Given the description of an element on the screen output the (x, y) to click on. 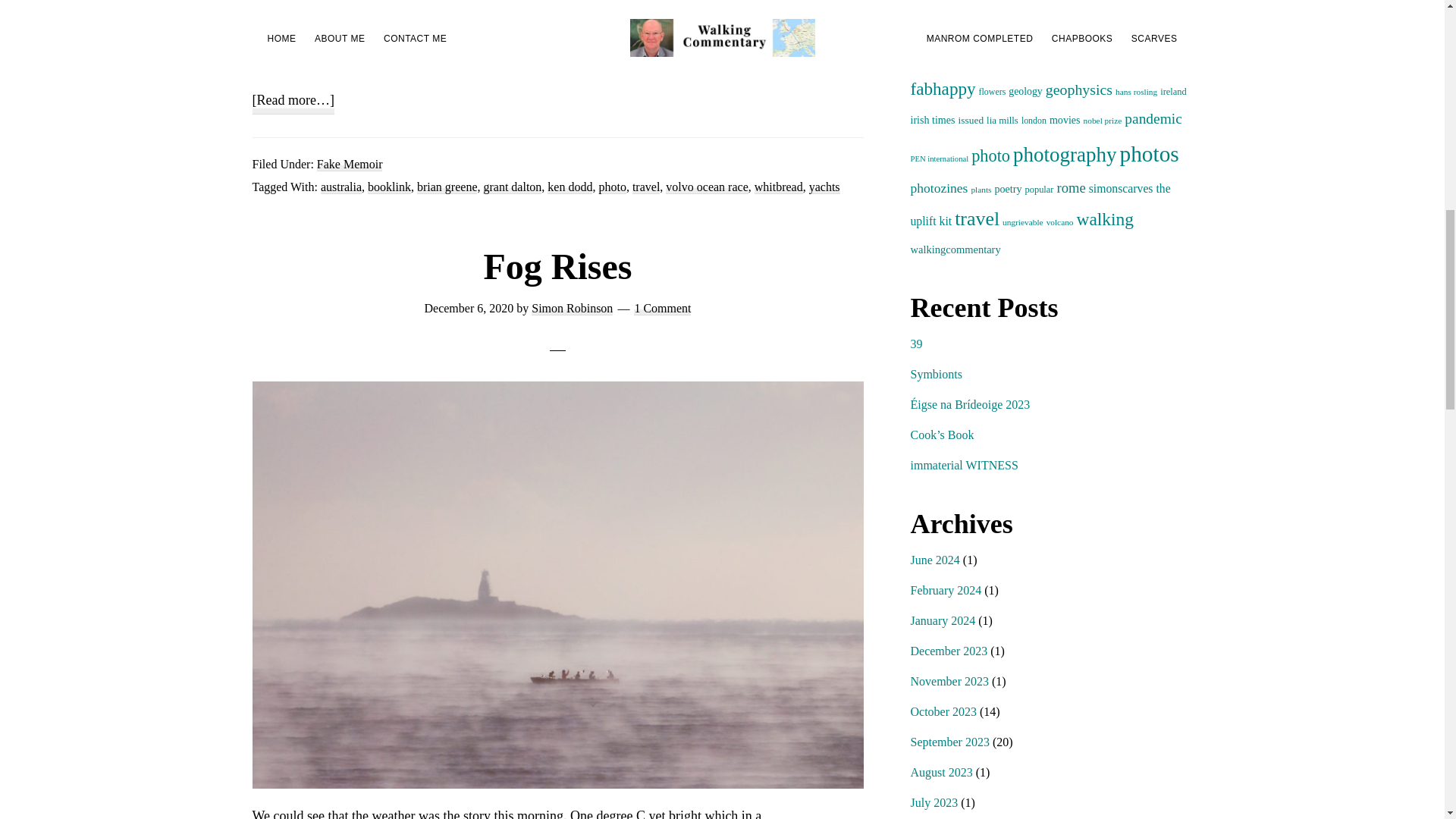
Fog Rises (557, 266)
Simon Robinson (571, 308)
1 Comment (661, 308)
volvo ocean race (706, 187)
travel (645, 187)
brian greene (446, 187)
booklink (389, 187)
australia (340, 187)
ken dodd (569, 187)
whitbread (778, 187)
